Given the description of an element on the screen output the (x, y) to click on. 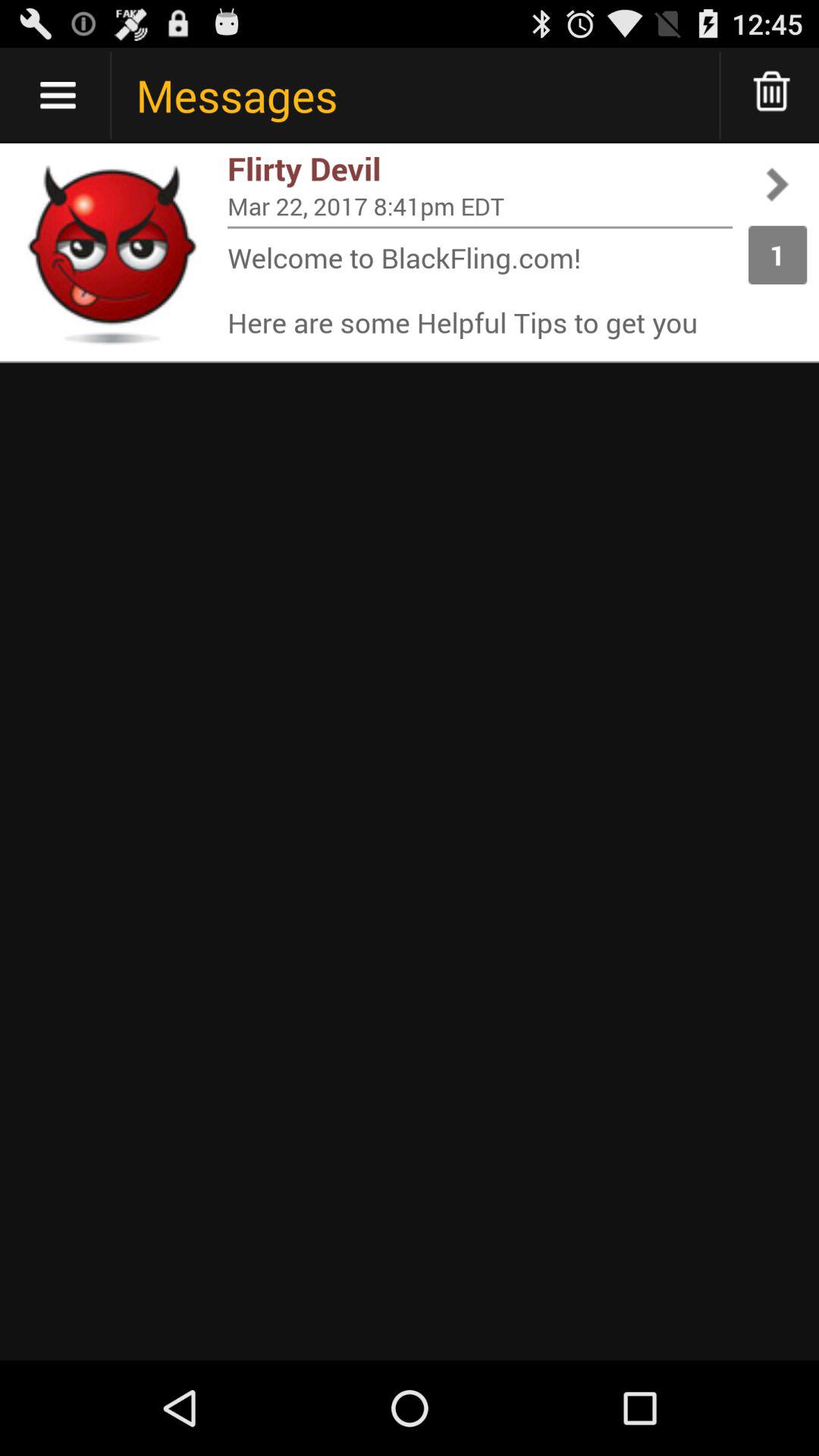
swipe to mar 22 2017 icon (479, 205)
